Given the description of an element on the screen output the (x, y) to click on. 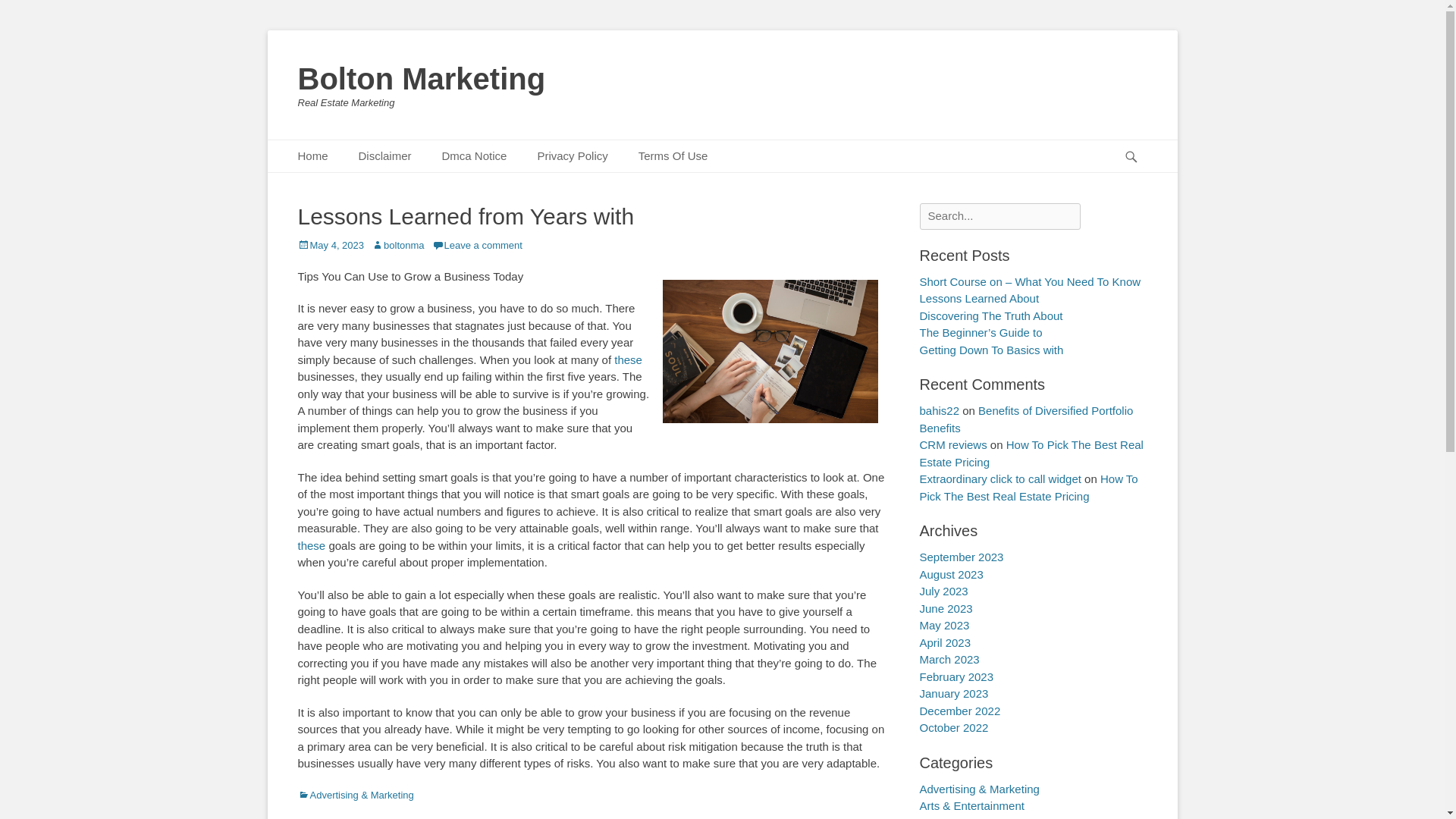
Search for: (999, 216)
July 2023 (943, 590)
Getting Down To Basics with (990, 349)
boltonma (397, 244)
March 2023 (948, 658)
Discovering The Truth About (990, 315)
Terms Of Use (673, 156)
these (628, 359)
May 2023 (943, 625)
Home (312, 156)
